Given the description of an element on the screen output the (x, y) to click on. 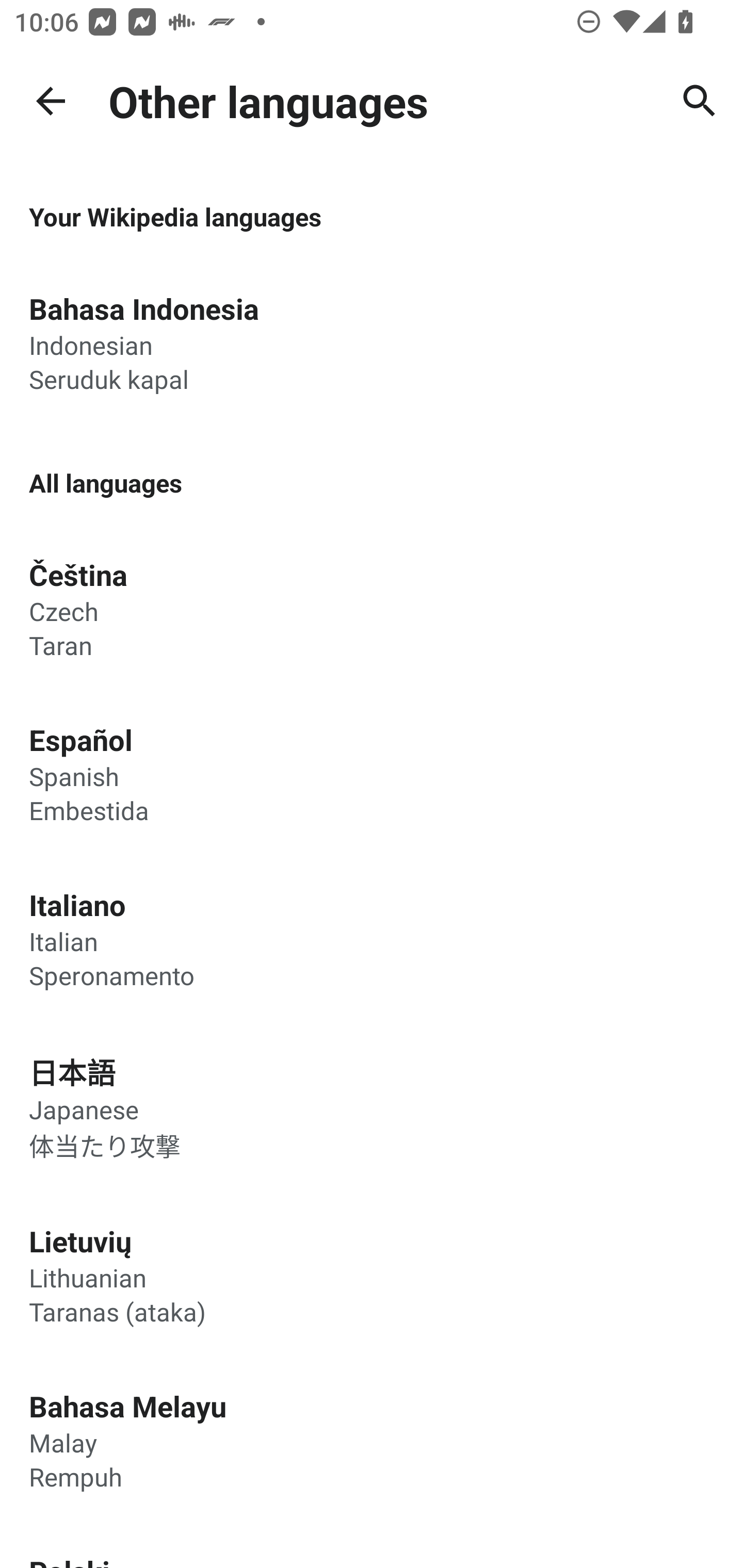
Navigate up (50, 101)
Search for a language (699, 101)
Bahasa Indonesia Indonesian Seruduk kapal (371, 342)
Čeština Czech Taran (371, 608)
Español Spanish Embestida (371, 773)
Italiano Italian Speronamento (371, 938)
日本語 Japanese 体当たり攻撃 (371, 1106)
Lietuvių Lithuanian Taranas (ataka) (371, 1275)
Bahasa Melayu Malay Rempuh (371, 1439)
